Given the description of an element on the screen output the (x, y) to click on. 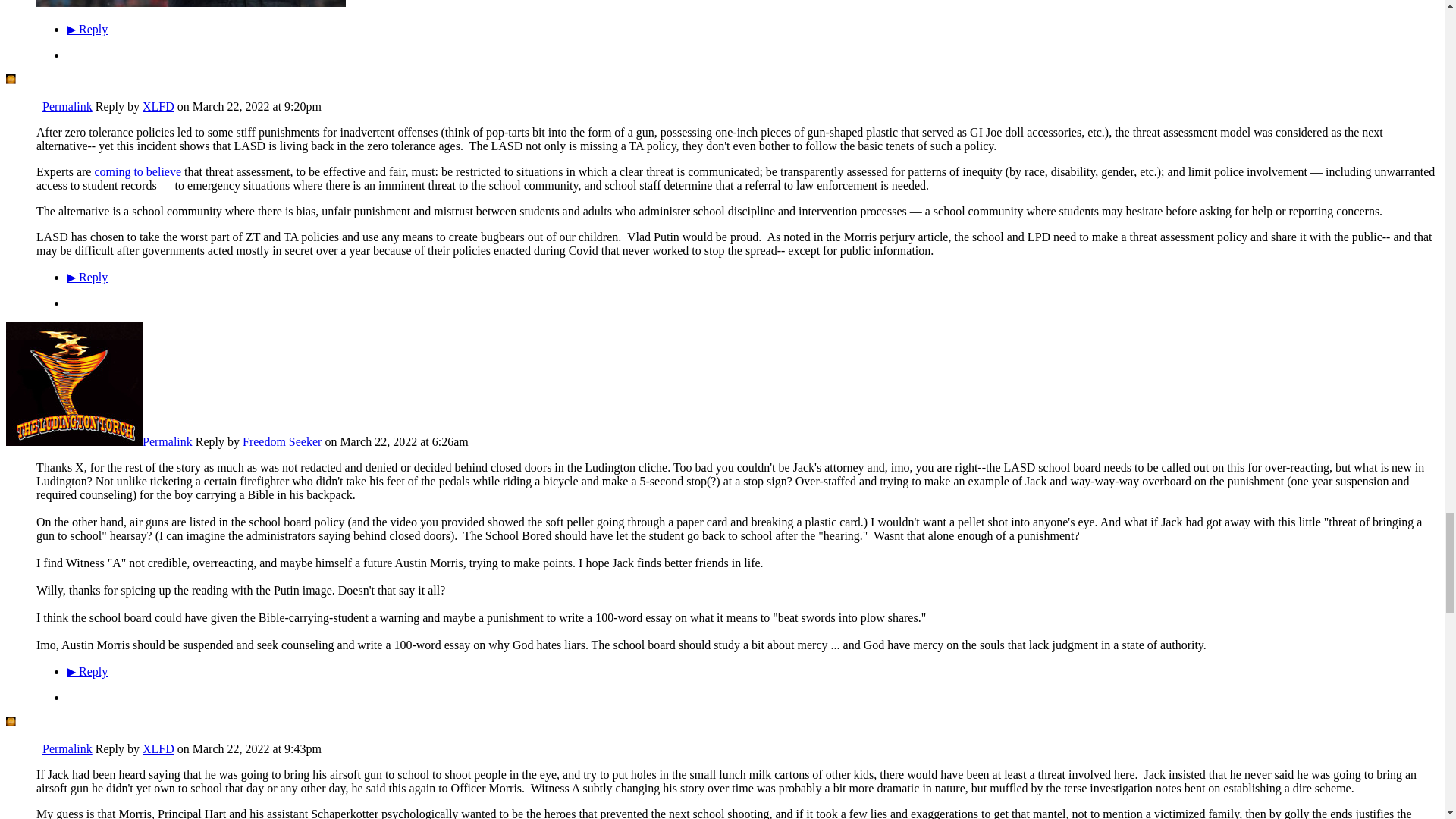
XLFD (23, 748)
Freedom Seeker (73, 440)
Permalink to this Reply (167, 440)
Permalink to this Reply (67, 106)
Permalink to this Reply (67, 748)
XLFD (23, 106)
